Given the description of an element on the screen output the (x, y) to click on. 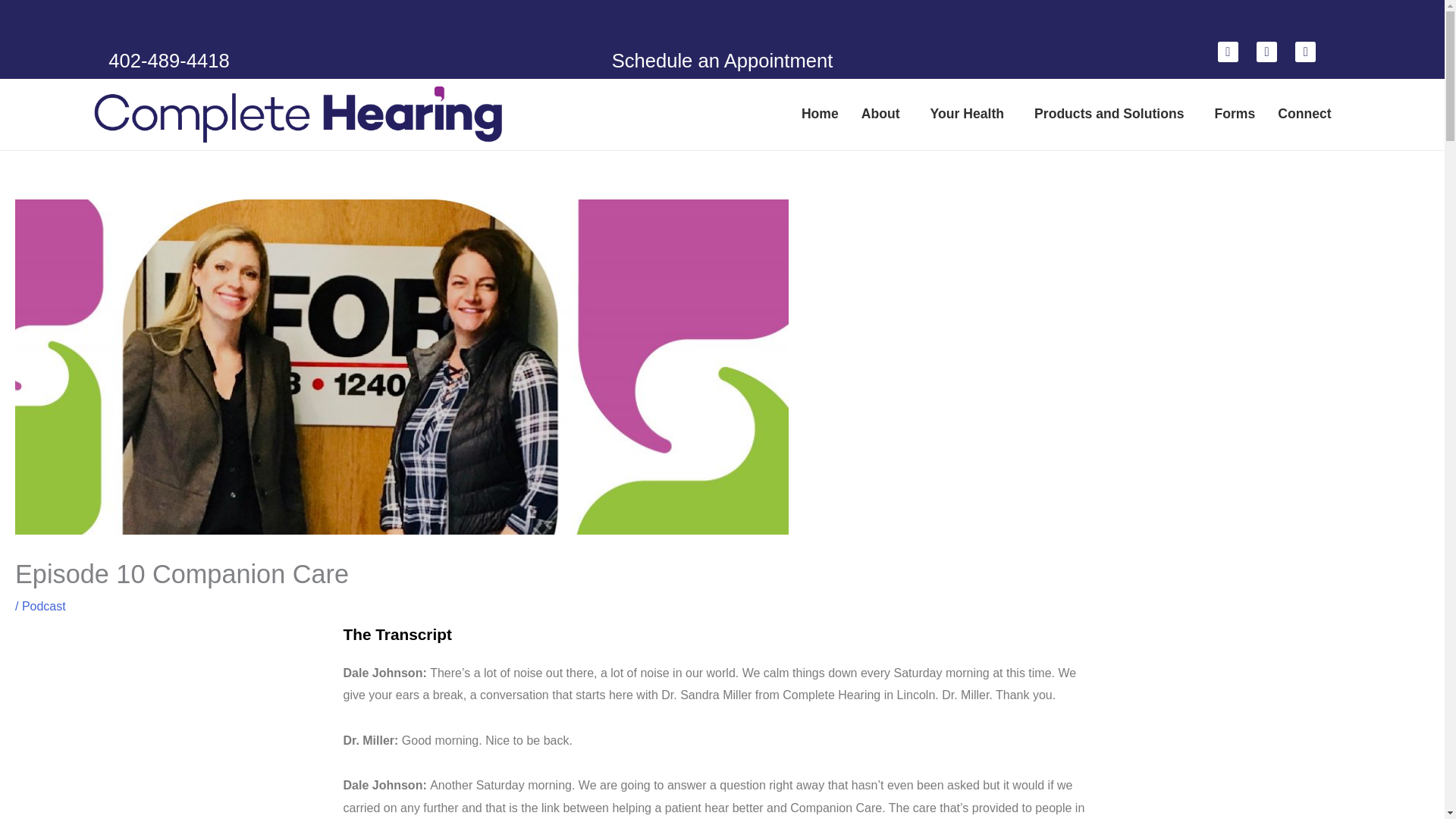
Instagram (1305, 51)
Connect (1307, 114)
Home (820, 114)
About (884, 114)
Facebook (1228, 51)
402-489-4418 (167, 60)
Podcast (43, 605)
Youtube (1266, 51)
Your Health (970, 114)
Products and Solutions (1112, 114)
Schedule an Appointment (721, 60)
Forms (1234, 114)
